Given the description of an element on the screen output the (x, y) to click on. 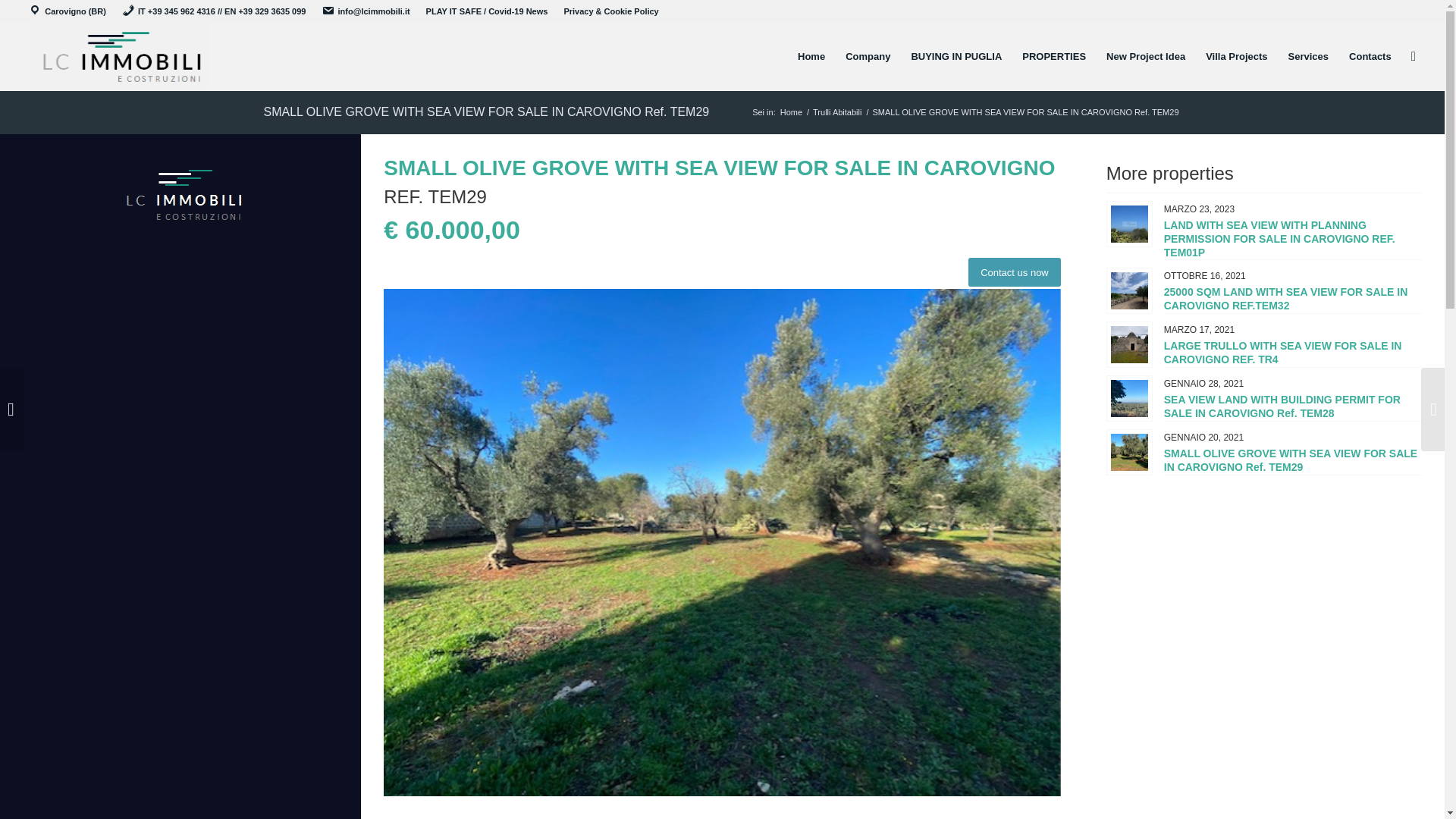
LCIMMOBILI (791, 112)
LC Costruzioni Puglia (180, 194)
Trulli Abitabili (836, 112)
